Given the description of an element on the screen output the (x, y) to click on. 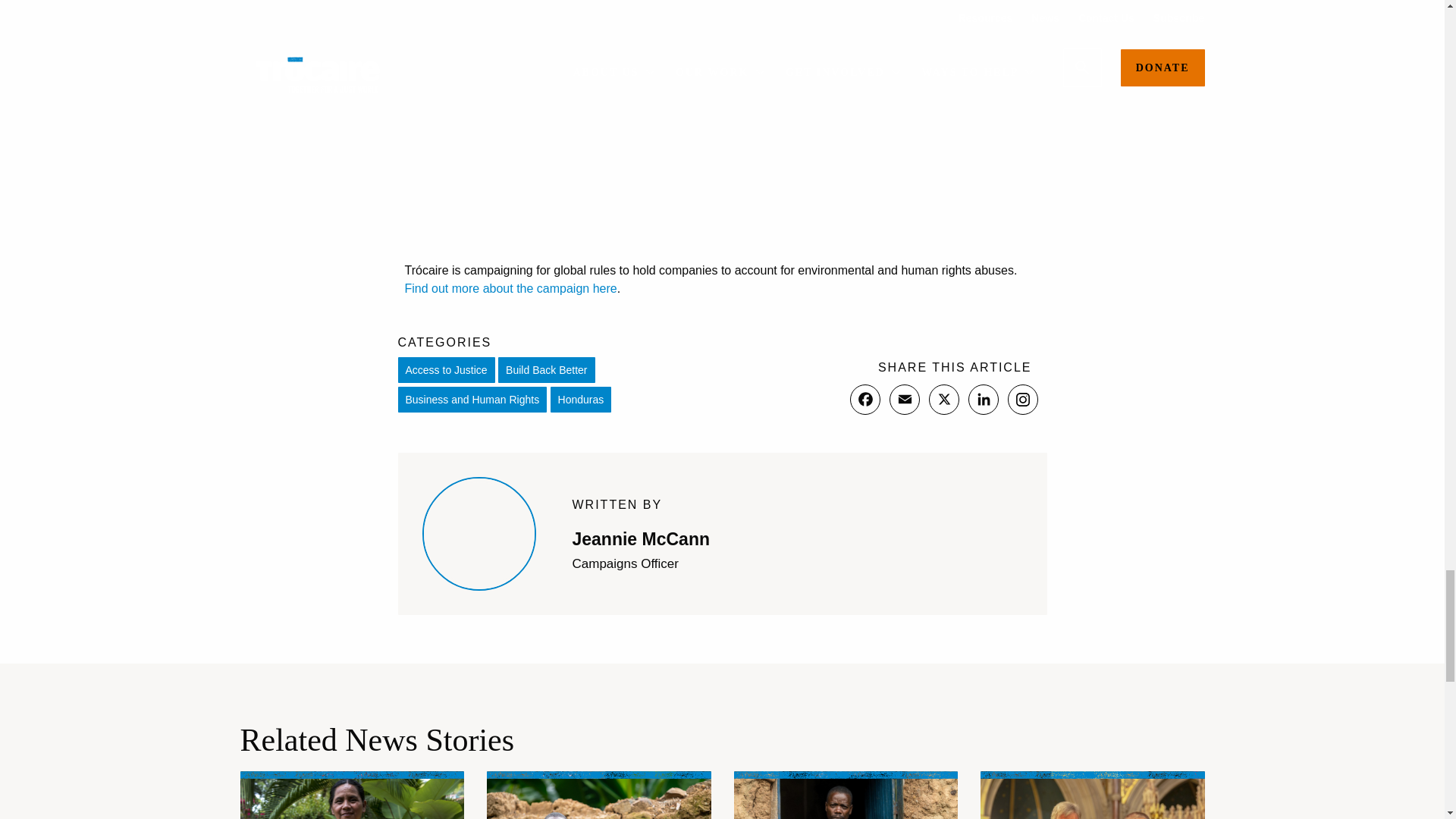
LinkedIn (982, 399)
Instagram (1021, 399)
Email (903, 399)
Facebook (863, 399)
X (943, 399)
